Given the description of an element on the screen output the (x, y) to click on. 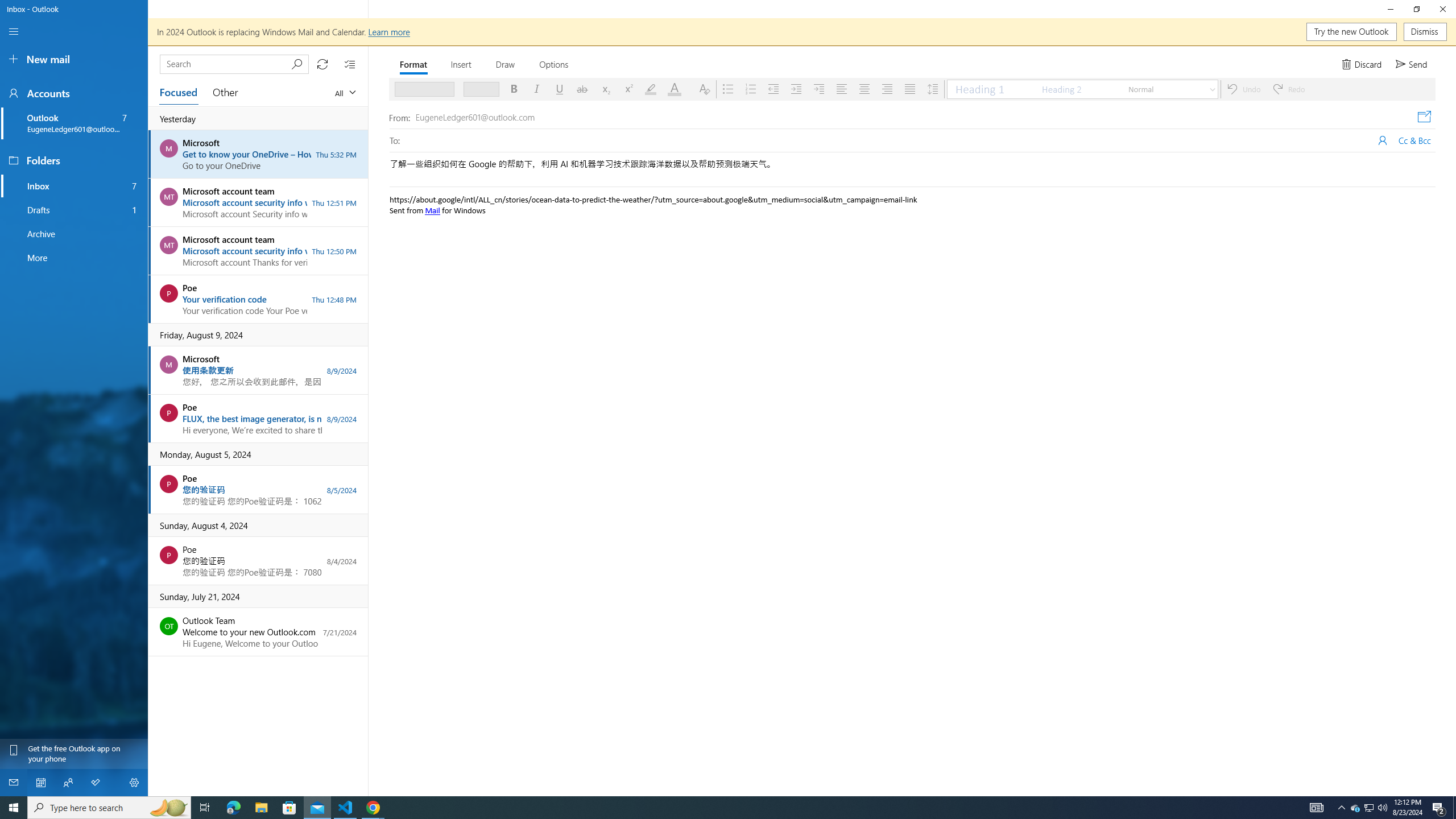
Bold (513, 88)
Decrease Indent (772, 88)
Center (864, 88)
Submit search (296, 63)
Heading 2 (1077, 89)
In 2024 Outlook is replacing Windows Mail and Calendar. (802, 31)
Highlight (650, 88)
Font (419, 88)
Message (912, 450)
Enter selection mode (350, 63)
Inbox folder, 7 unread, favorite (74, 185)
Align Left (841, 88)
Numbering (750, 88)
Drafts folder, 1 unread, favorite (74, 209)
